Given the description of an element on the screen output the (x, y) to click on. 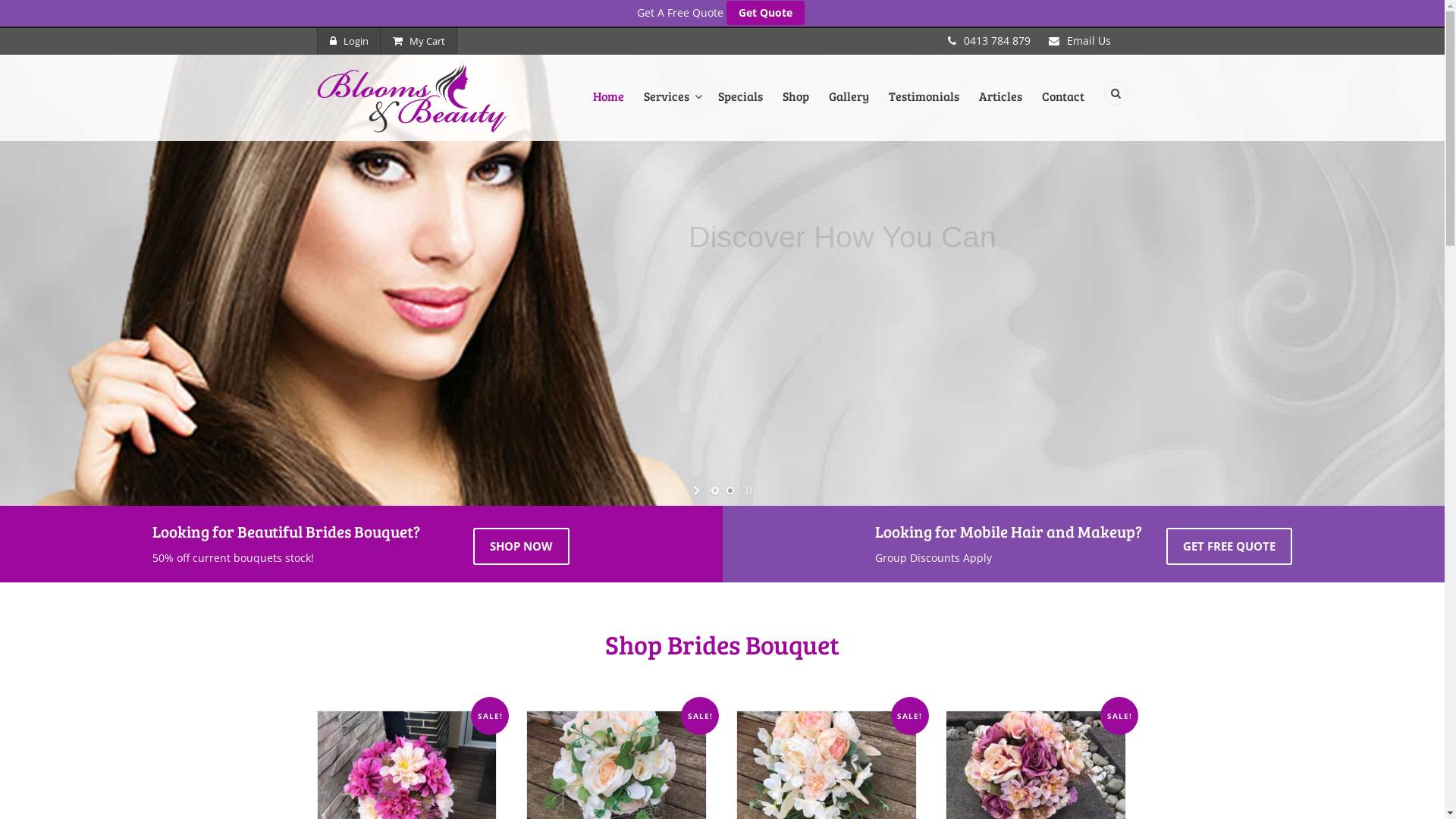
Specials Element type: text (740, 107)
SHOP NOW Element type: text (521, 546)
Email Us Element type: text (1088, 40)
GET FREE QUOTE Element type: text (1229, 546)
Home Element type: text (607, 107)
My Cart Element type: text (417, 40)
0413 784 879 Element type: text (996, 40)
Articles Element type: text (1000, 107)
Login Element type: text (347, 40)
Testimonials Element type: text (923, 107)
Services Element type: text (671, 107)
Get Quote Element type: text (765, 12)
Contact Element type: text (1062, 107)
Shop Element type: text (795, 107)
Gallery Element type: text (848, 107)
